Given the description of an element on the screen output the (x, y) to click on. 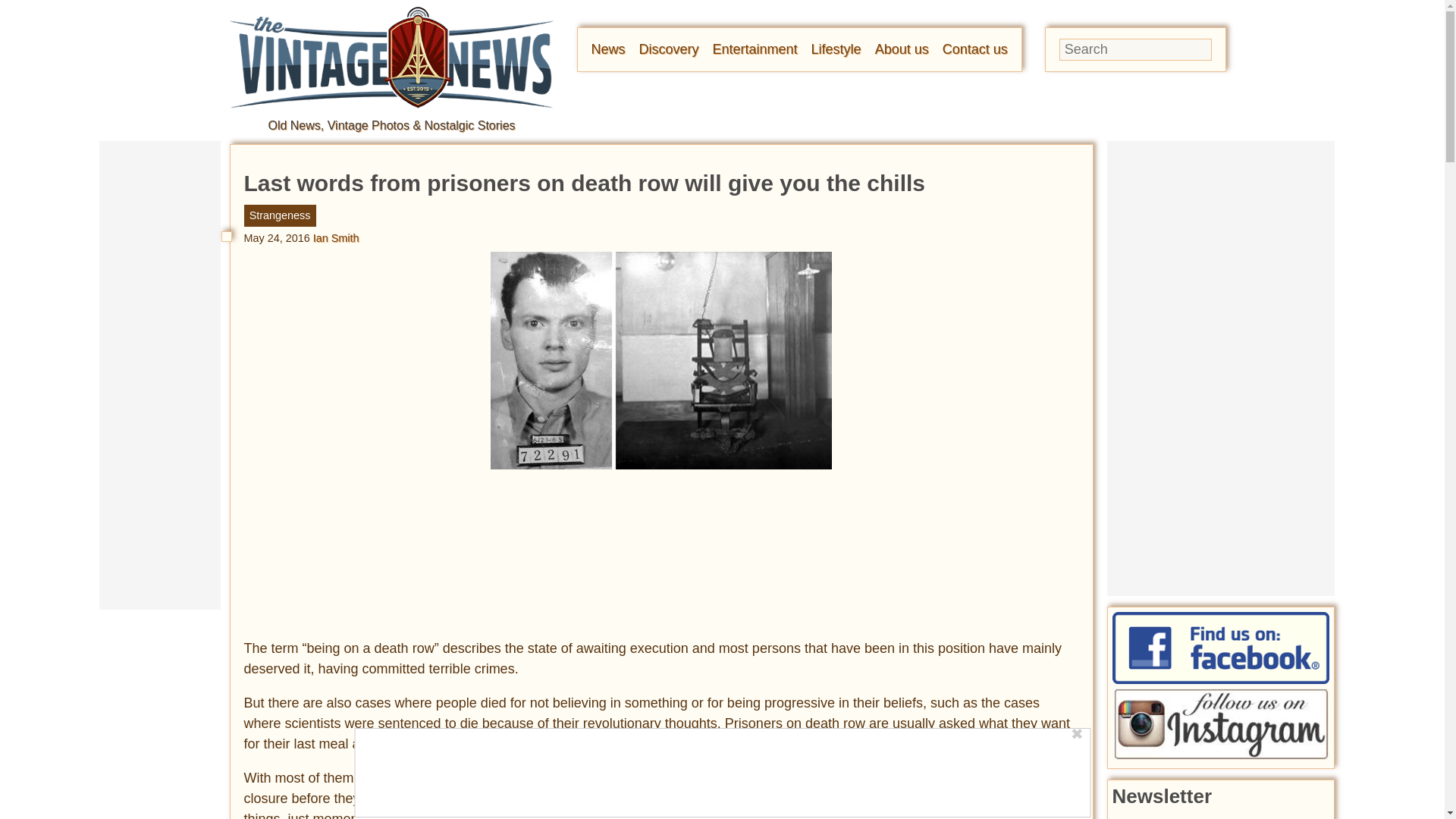
Entertainment (755, 48)
Contact us (974, 48)
About us (901, 48)
Discovery (668, 48)
Lifestyle (835, 48)
News (608, 48)
